Given the description of an element on the screen output the (x, y) to click on. 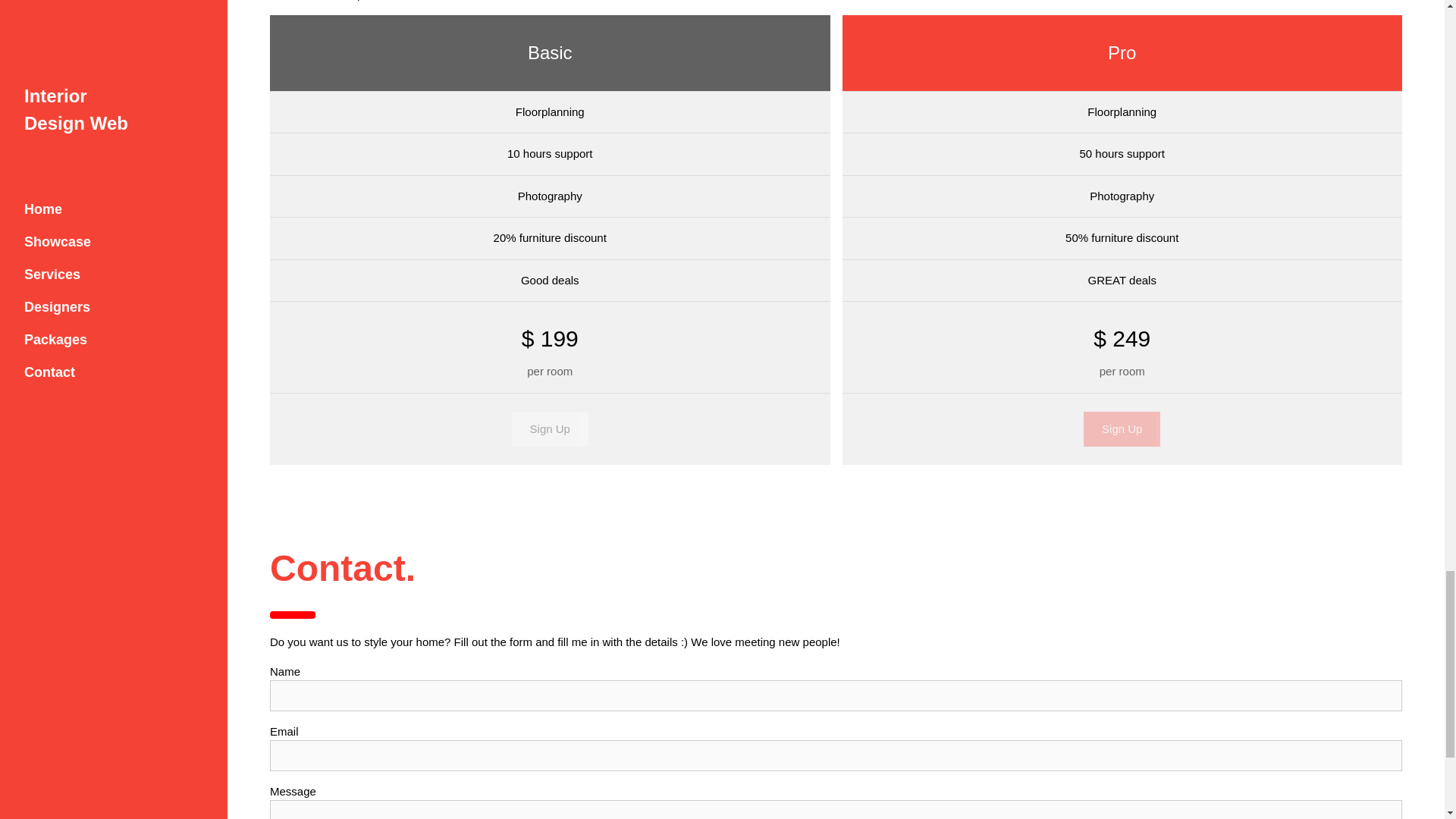
Sign Up (550, 429)
Sign Up (1121, 429)
